Given the description of an element on the screen output the (x, y) to click on. 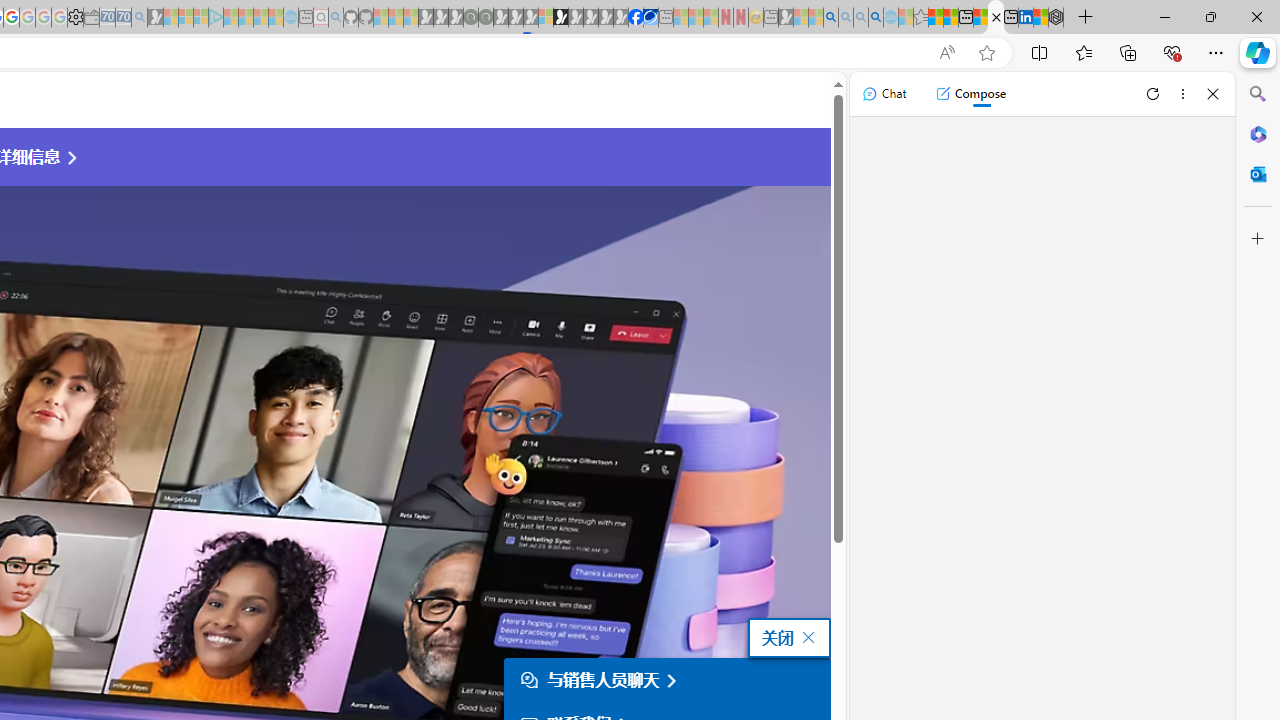
AQI & Health | AirNow.gov (650, 17)
